Given the description of an element on the screen output the (x, y) to click on. 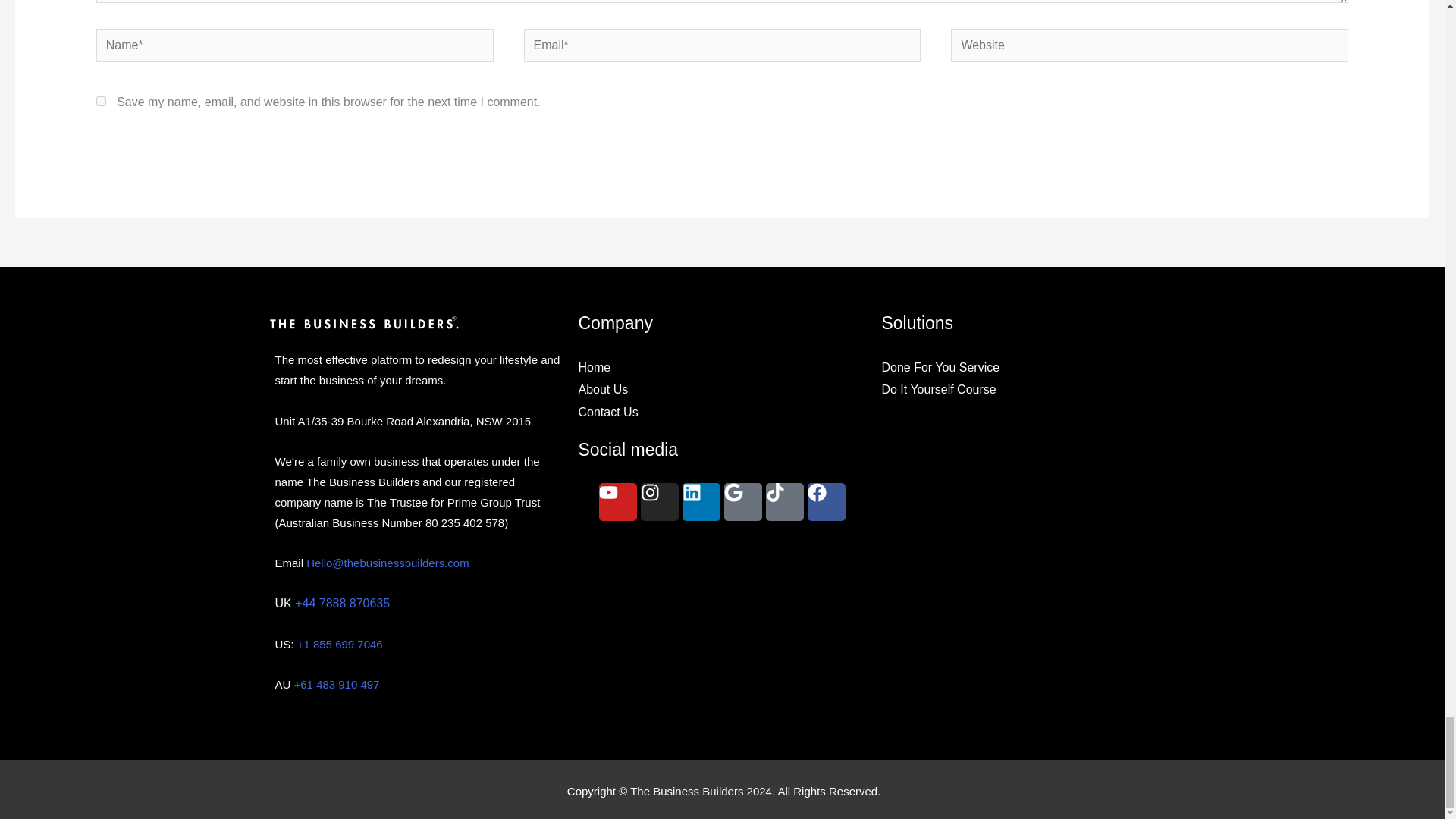
yes (101, 101)
Home (722, 366)
Instagram (659, 501)
Youtube (617, 501)
Do It Yourself Course (1024, 389)
Facebook (826, 501)
Linkedin (701, 501)
Tiktok (784, 501)
Done For You Service (1024, 366)
About Us (722, 389)
Google (742, 501)
